Given the description of an element on the screen output the (x, y) to click on. 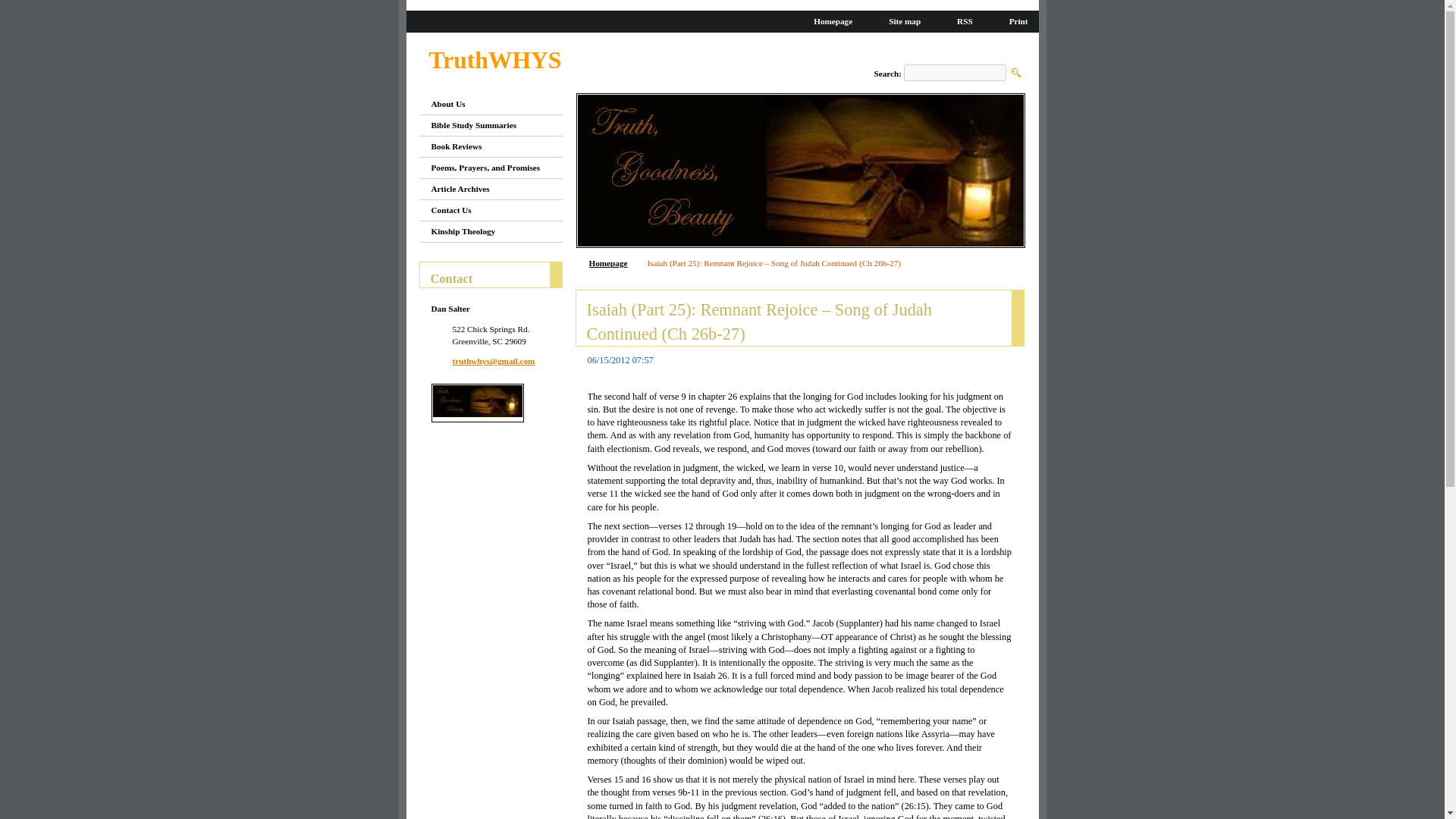
Homepage (826, 20)
Go to site map. (898, 20)
Article Archives (483, 189)
Print (1012, 20)
Book Reviews (483, 146)
Site map (898, 20)
Go to Homepage. (495, 60)
Contact Us (483, 209)
RSS (958, 20)
Poems, Prayers, and Promises (483, 168)
